Given the description of an element on the screen output the (x, y) to click on. 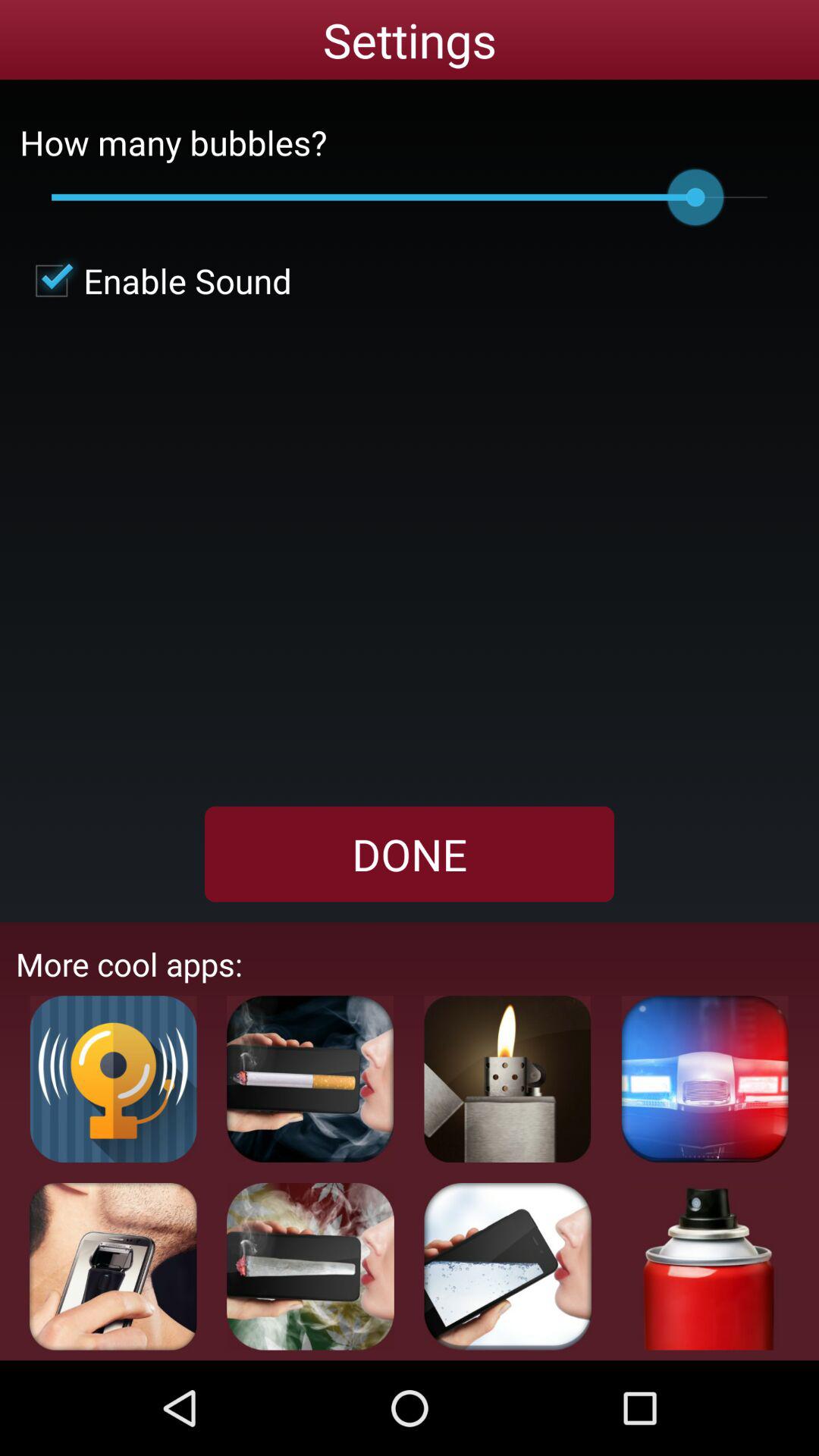
click done (409, 854)
